Given the description of an element on the screen output the (x, y) to click on. 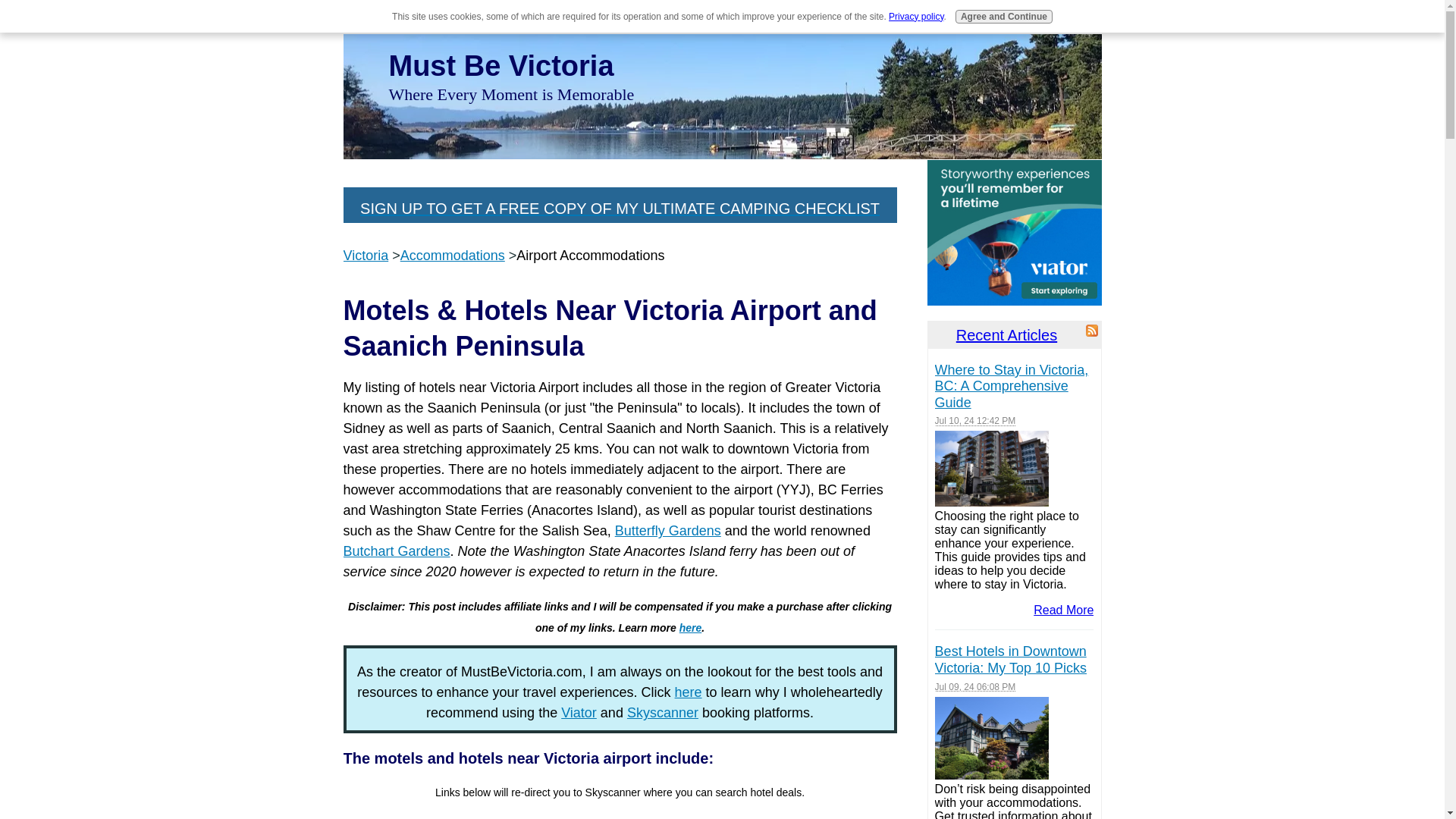
Victoria (365, 255)
Viator (578, 712)
2024-07-10T12:42:04-0400 (975, 420)
Skyscanner (662, 712)
SIGN UP TO GET A FREE COPY OF MY ULTIMATE CAMPING CHECKLIST (619, 208)
Accommodations (452, 255)
here (690, 627)
Butchart Gardens (395, 550)
here (688, 692)
Must Be Victoria (500, 65)
